Given the description of an element on the screen output the (x, y) to click on. 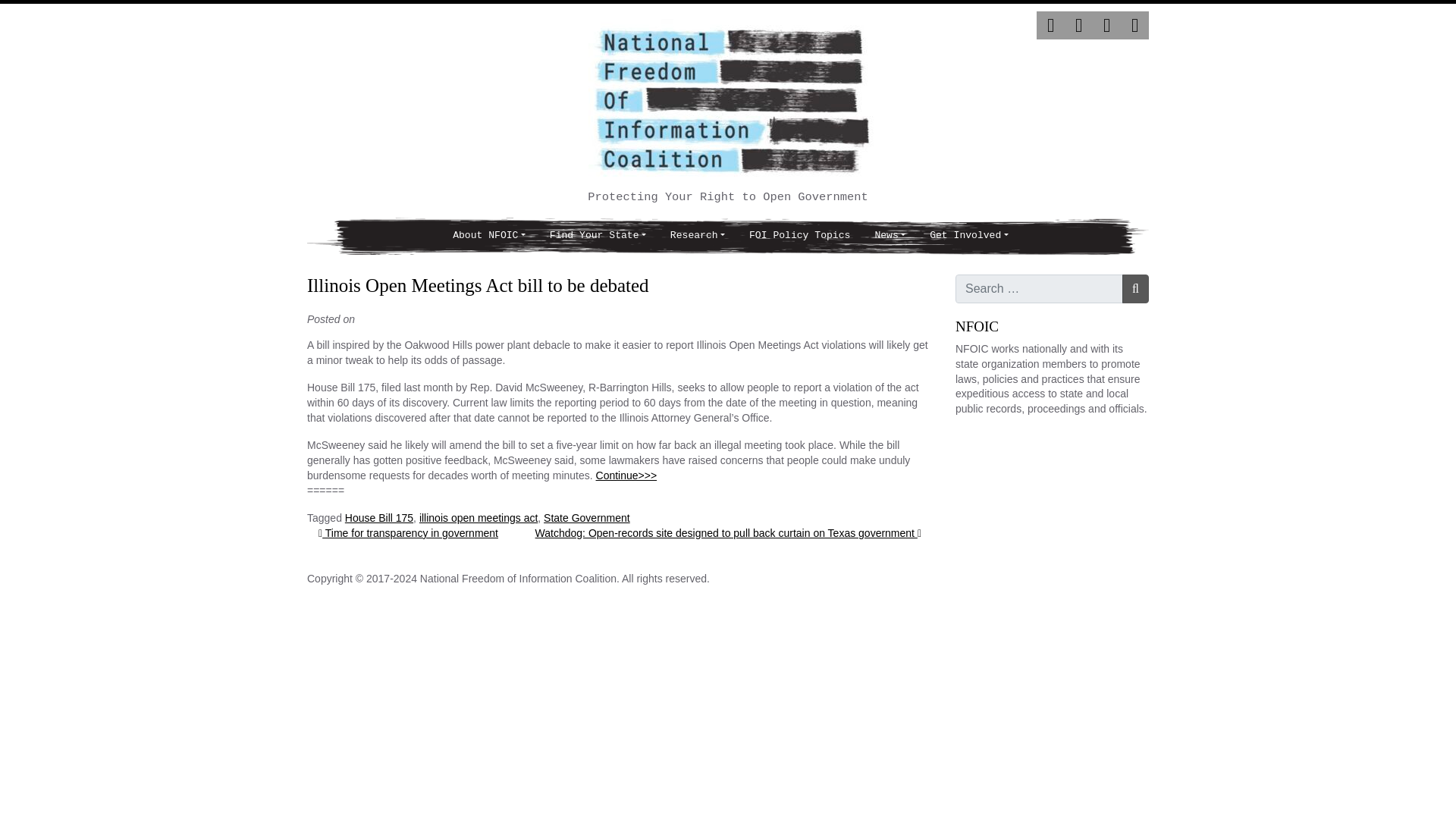
House Bill 175 (379, 517)
Find Your State (597, 235)
FOI Policy Topics (798, 235)
Research (697, 235)
Twitter (1050, 25)
YouTube (1134, 25)
News (889, 235)
Find Your State (597, 235)
Get Involved (968, 235)
About NFOIC (489, 235)
About NFOIC (489, 235)
Instagram (1107, 25)
Facebook (1078, 25)
illinois open meetings act (478, 517)
